Given the description of an element on the screen output the (x, y) to click on. 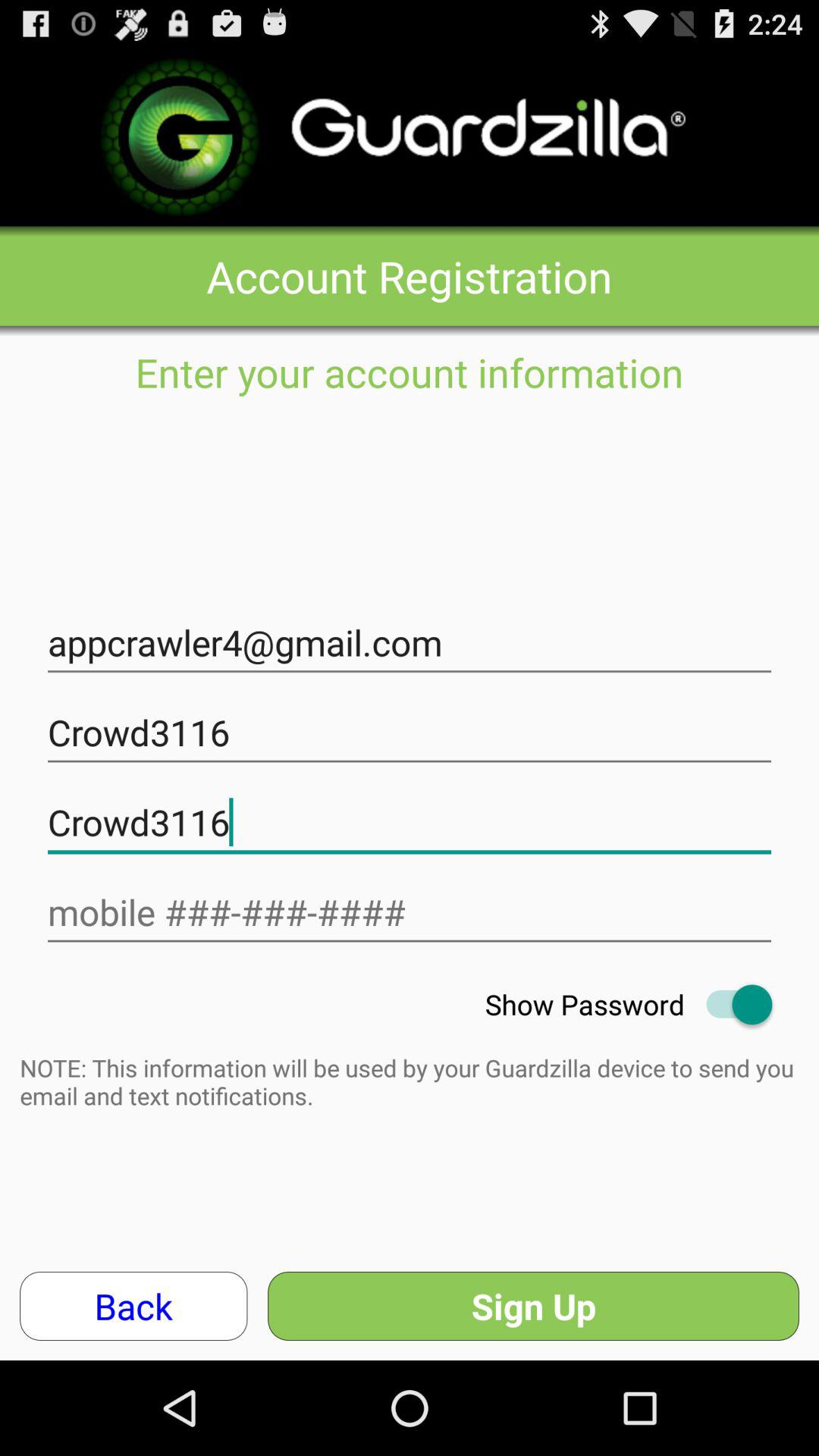
enter text (409, 912)
